Given the description of an element on the screen output the (x, y) to click on. 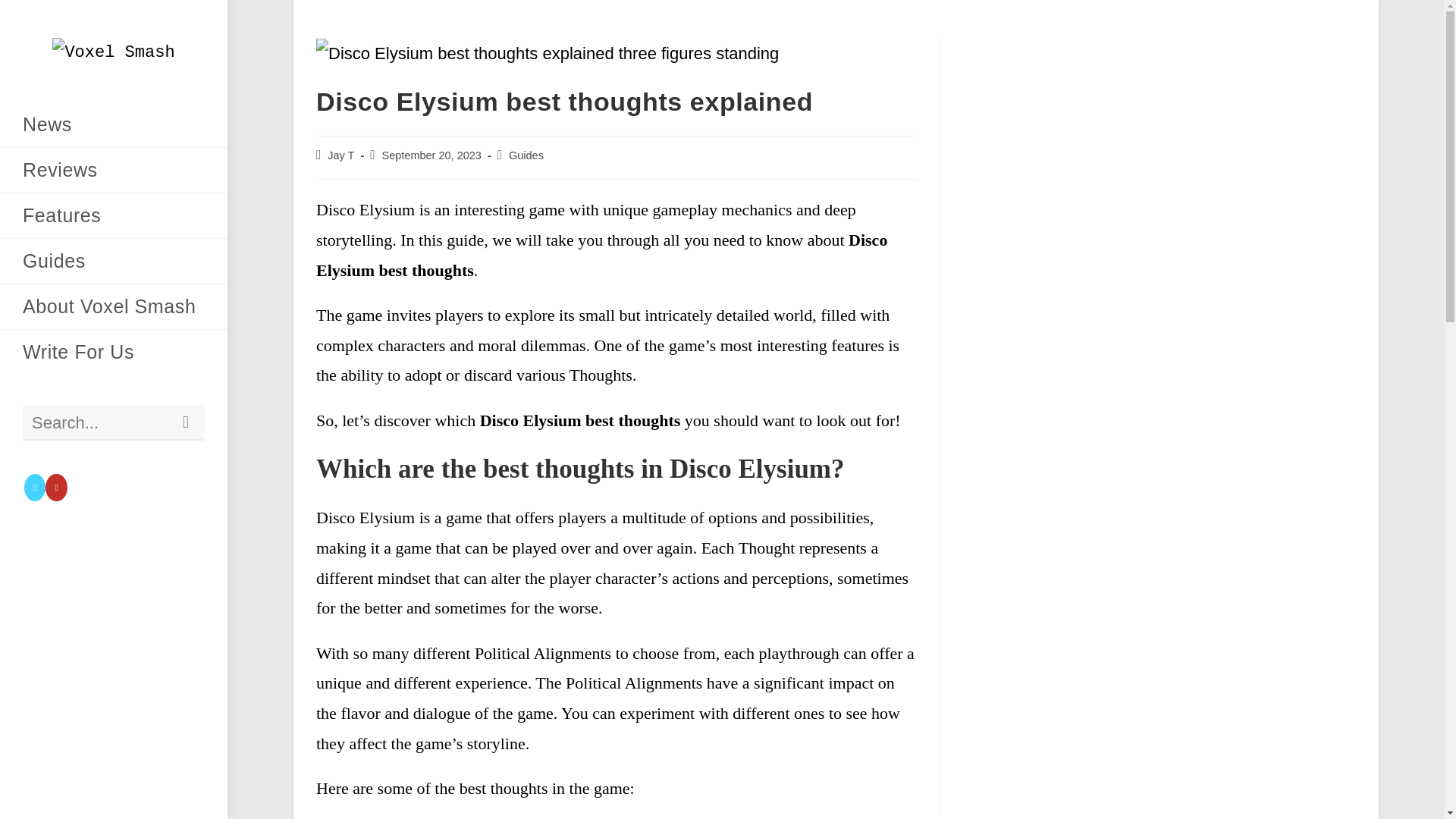
Guides (113, 261)
News (113, 124)
Submit search (186, 422)
Posts by Jay T (340, 155)
Jay T (340, 155)
About Voxel Smash (113, 306)
Write For Us (113, 352)
Guides (525, 155)
Reviews (113, 170)
Features (113, 215)
